Given the description of an element on the screen output the (x, y) to click on. 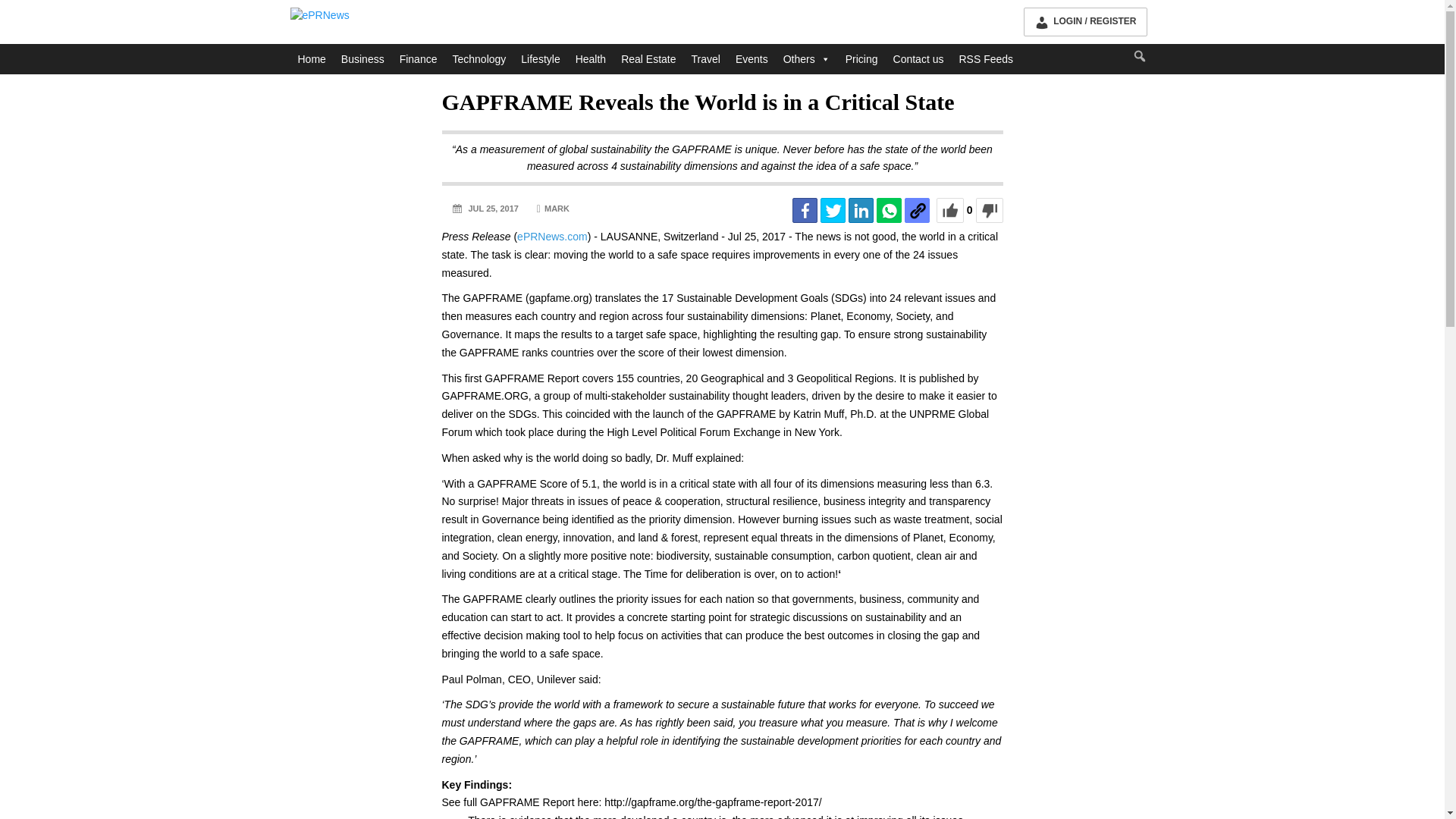
Travel (706, 59)
Share on Linkedin (860, 210)
Finance (418, 59)
Business (362, 59)
Downvote (989, 210)
Contact us (918, 59)
Copy Link (917, 210)
Health (589, 59)
Lifestyle (540, 59)
Technology (478, 59)
